Given the description of an element on the screen output the (x, y) to click on. 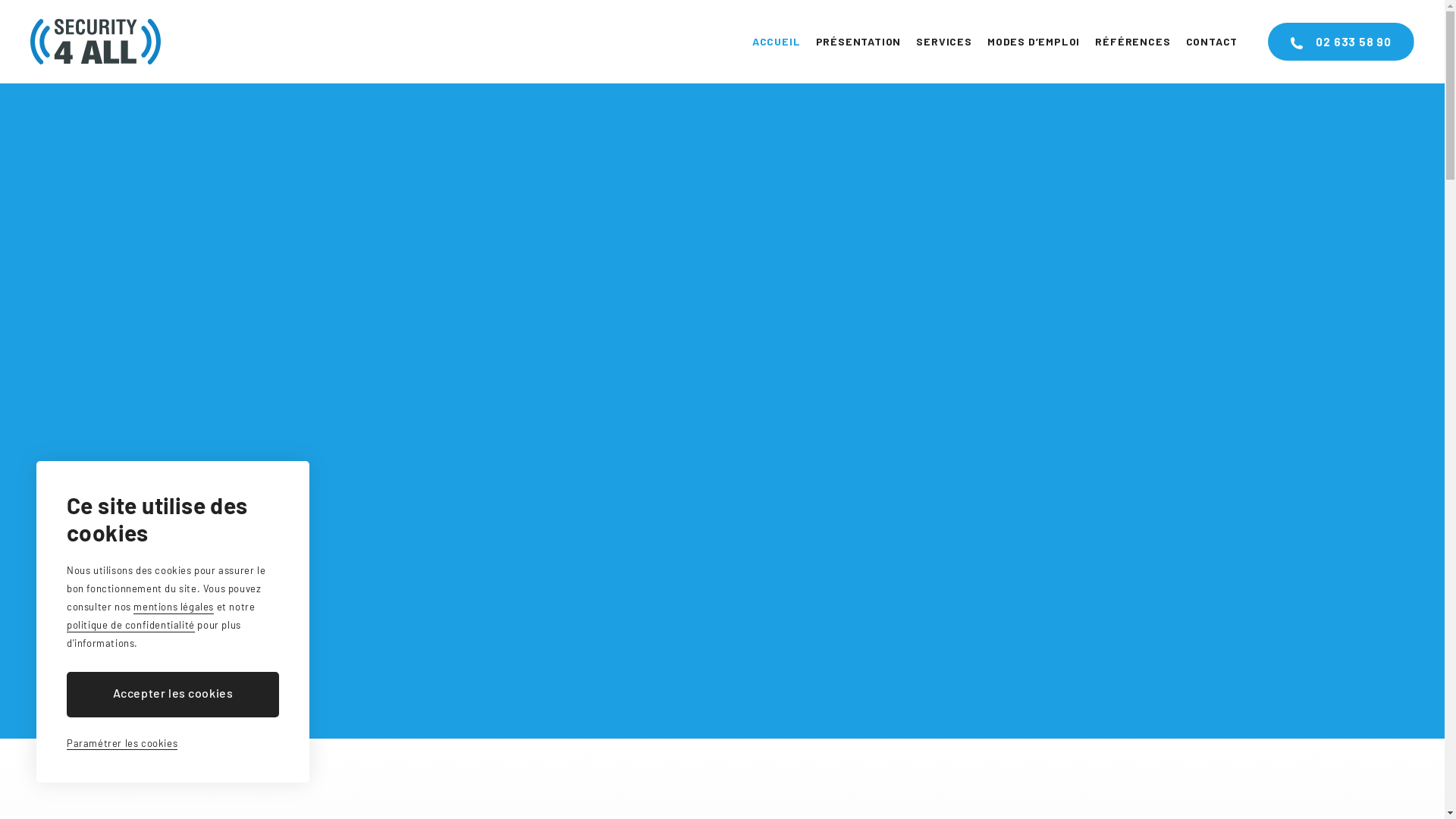
CONTACT Element type: text (1212, 41)
Accueil Element type: hover (95, 41)
02 633 58 90 Element type: text (1340, 41)
ACCUEIL Element type: text (776, 41)
SERVICES Element type: text (943, 41)
